Given the description of an element on the screen output the (x, y) to click on. 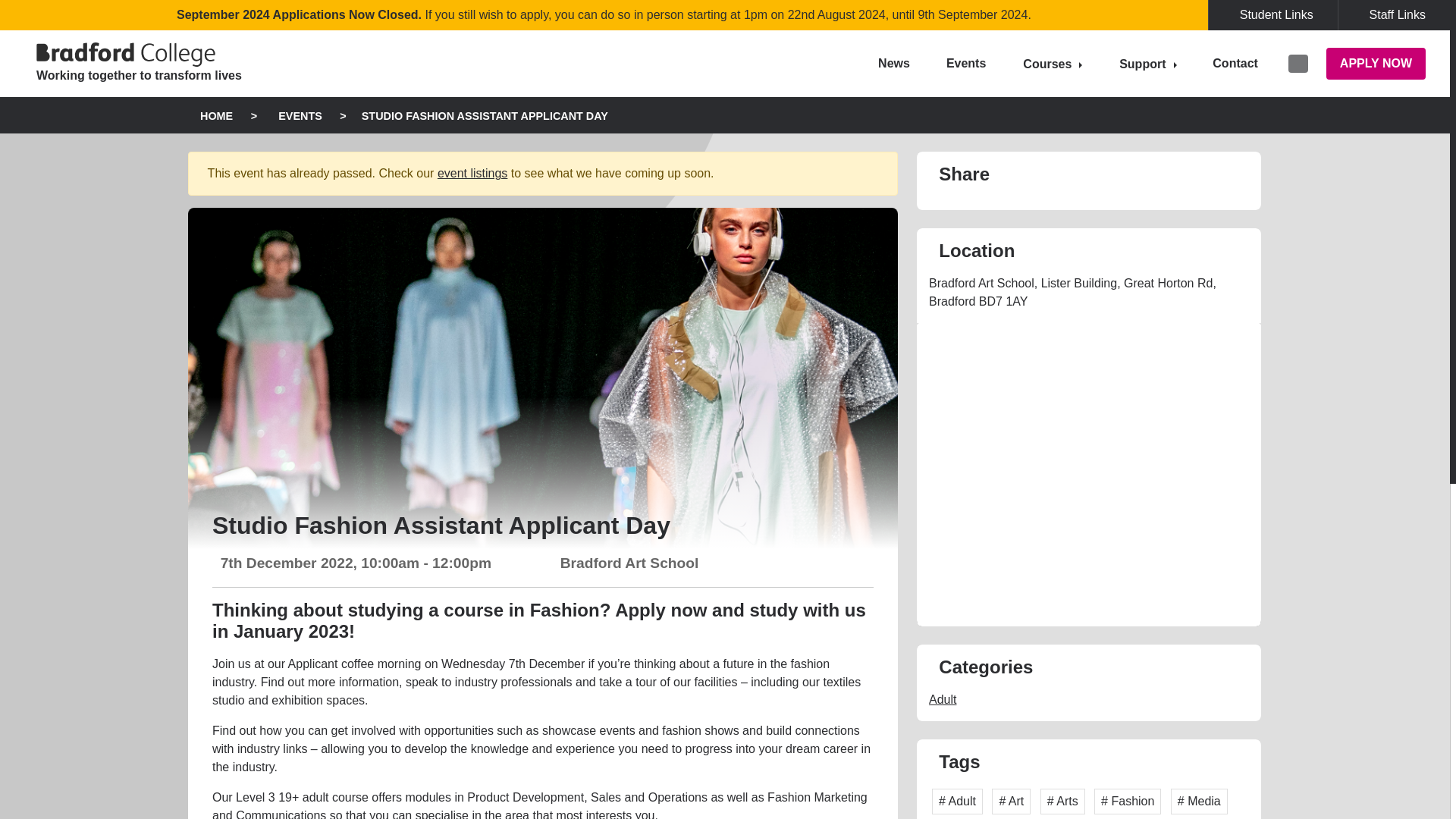
Events (965, 63)
Support (1147, 63)
News (893, 63)
  Student Links (1273, 15)
Events (965, 63)
News (893, 63)
Working together to transform lives (145, 63)
Courses (1052, 63)
Courses (1052, 63)
